Given the description of an element on the screen output the (x, y) to click on. 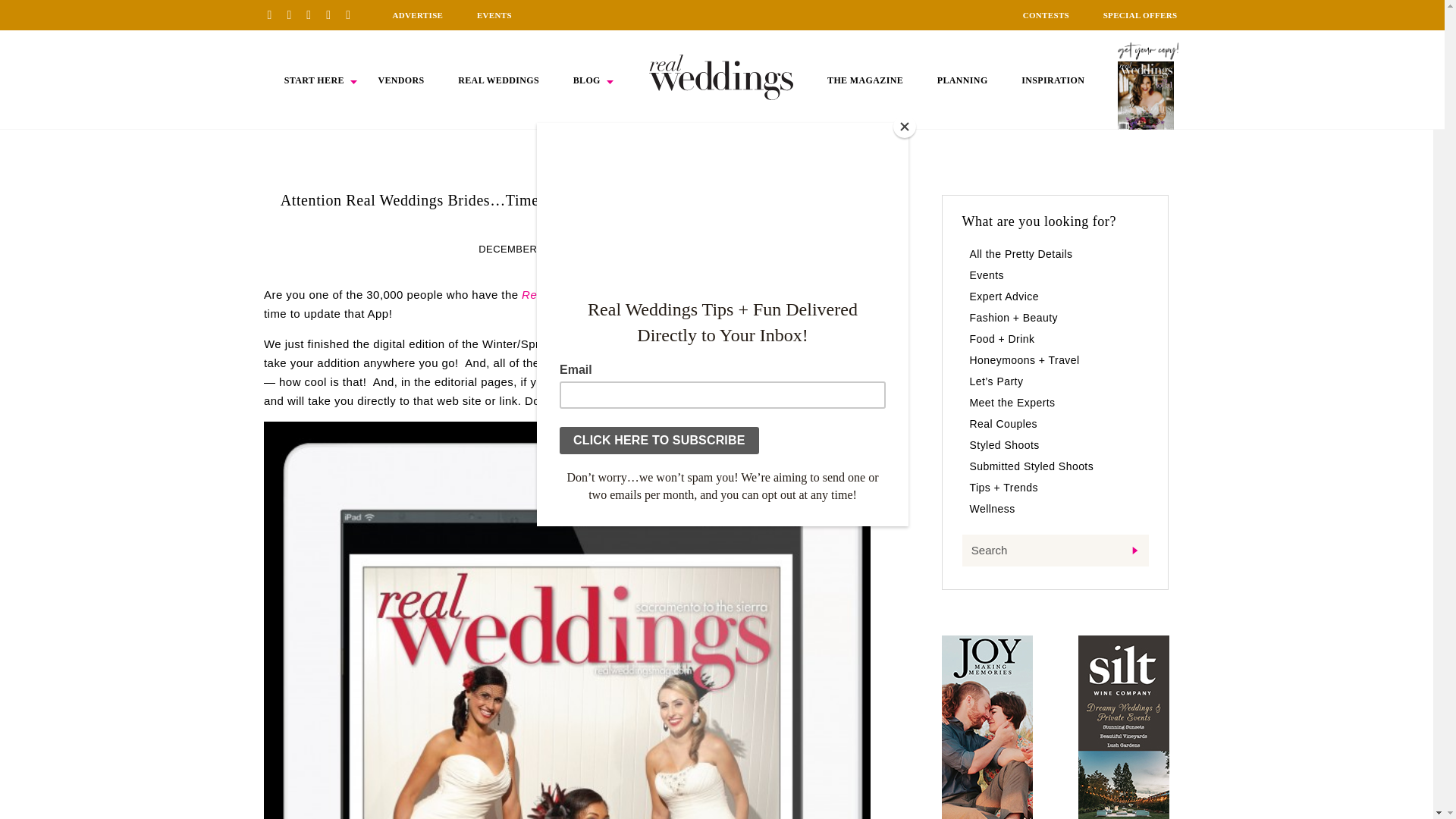
SPECIAL OFFERS (1140, 14)
CONTESTS (1045, 14)
Twitter (334, 14)
VENDORS (400, 80)
Pinterest (274, 14)
PLANNING (962, 80)
REAL WEDDINGS (498, 80)
Facebook (294, 14)
INSPIRATION (1053, 80)
START HERE (313, 80)
YouTube (353, 14)
THE MAGAZINE (864, 80)
EVENTS (494, 14)
BLOG (586, 80)
